Given the description of an element on the screen output the (x, y) to click on. 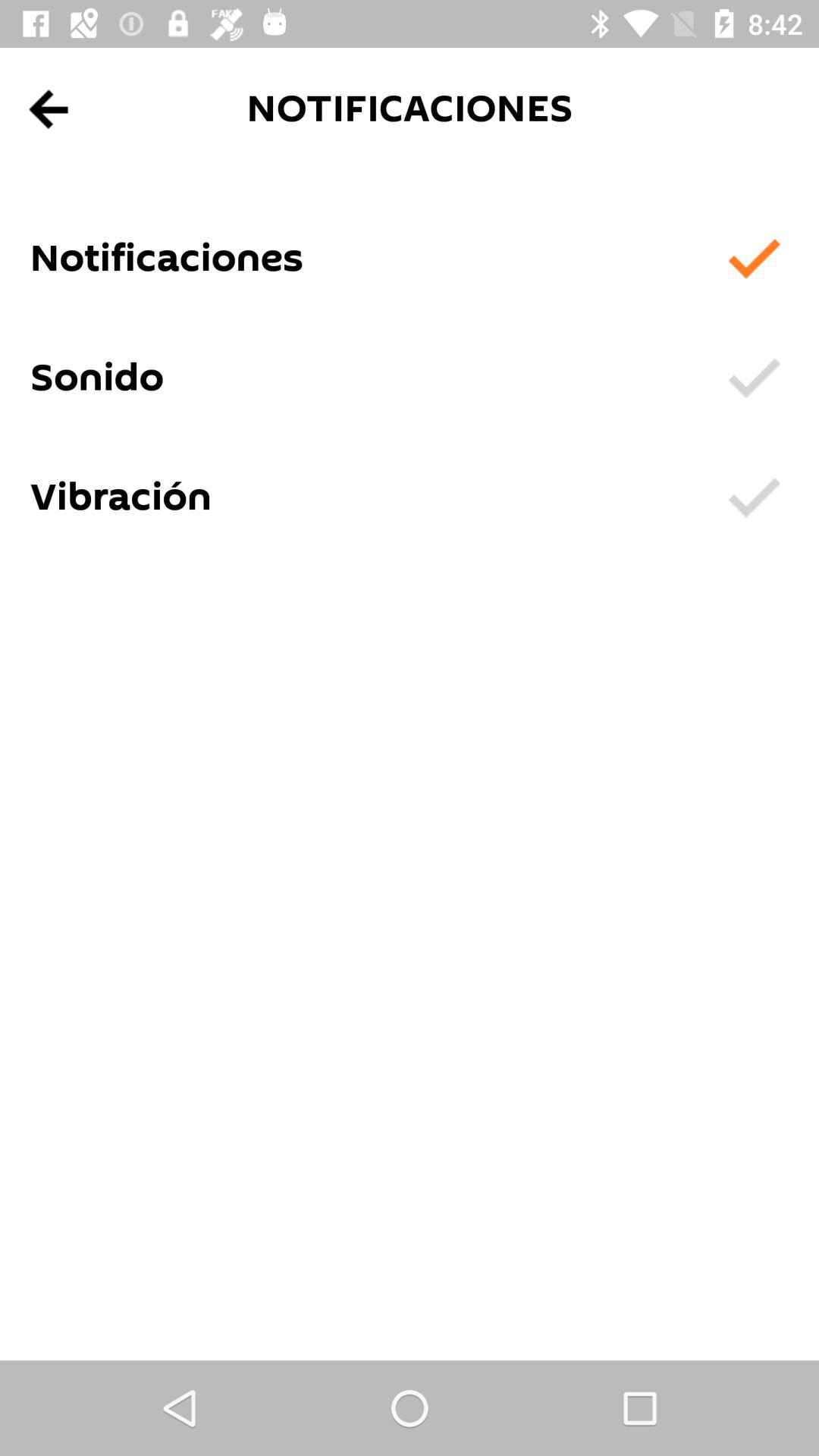
go back (49, 109)
